Given the description of an element on the screen output the (x, y) to click on. 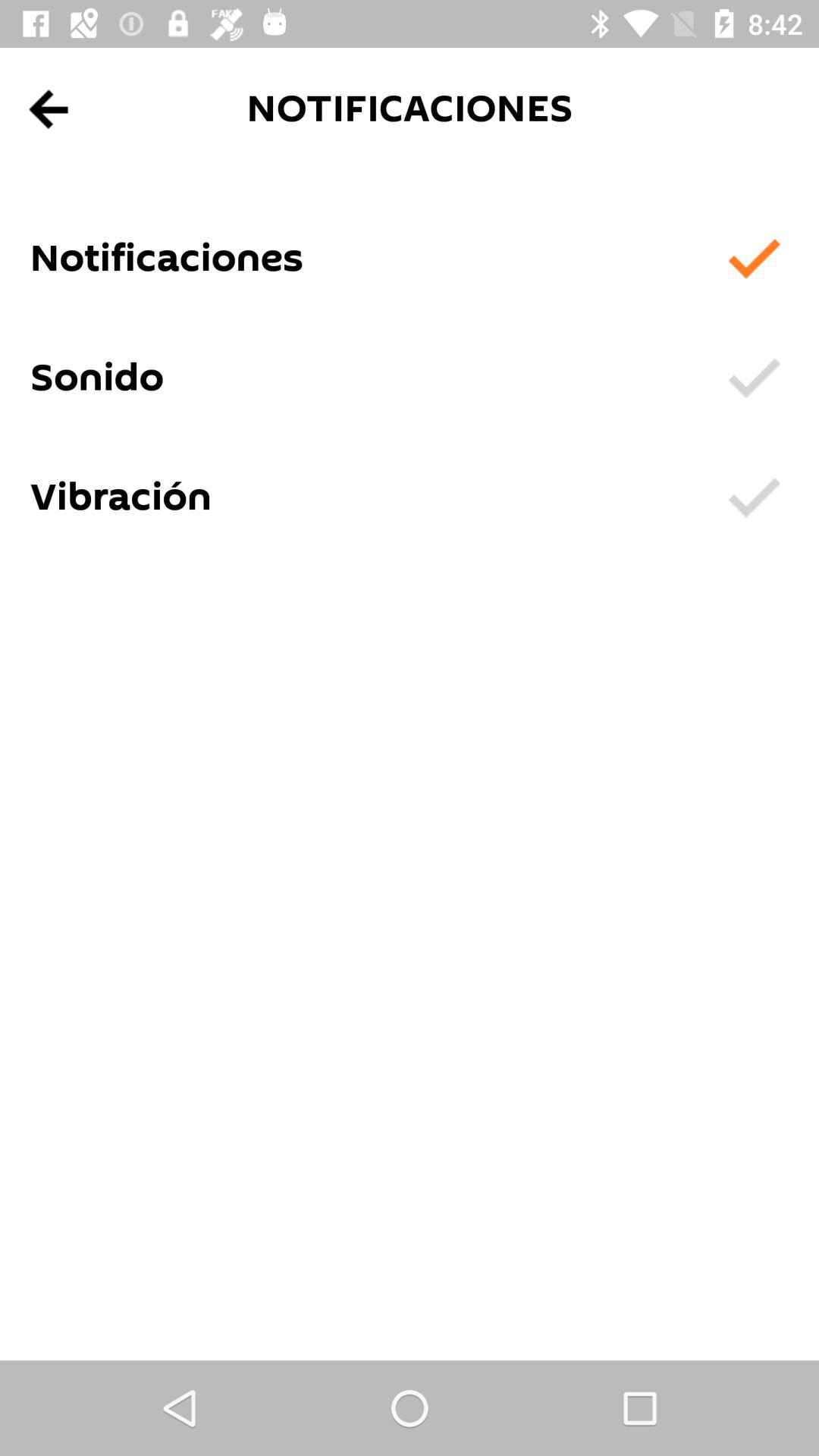
go back (49, 109)
